Given the description of an element on the screen output the (x, y) to click on. 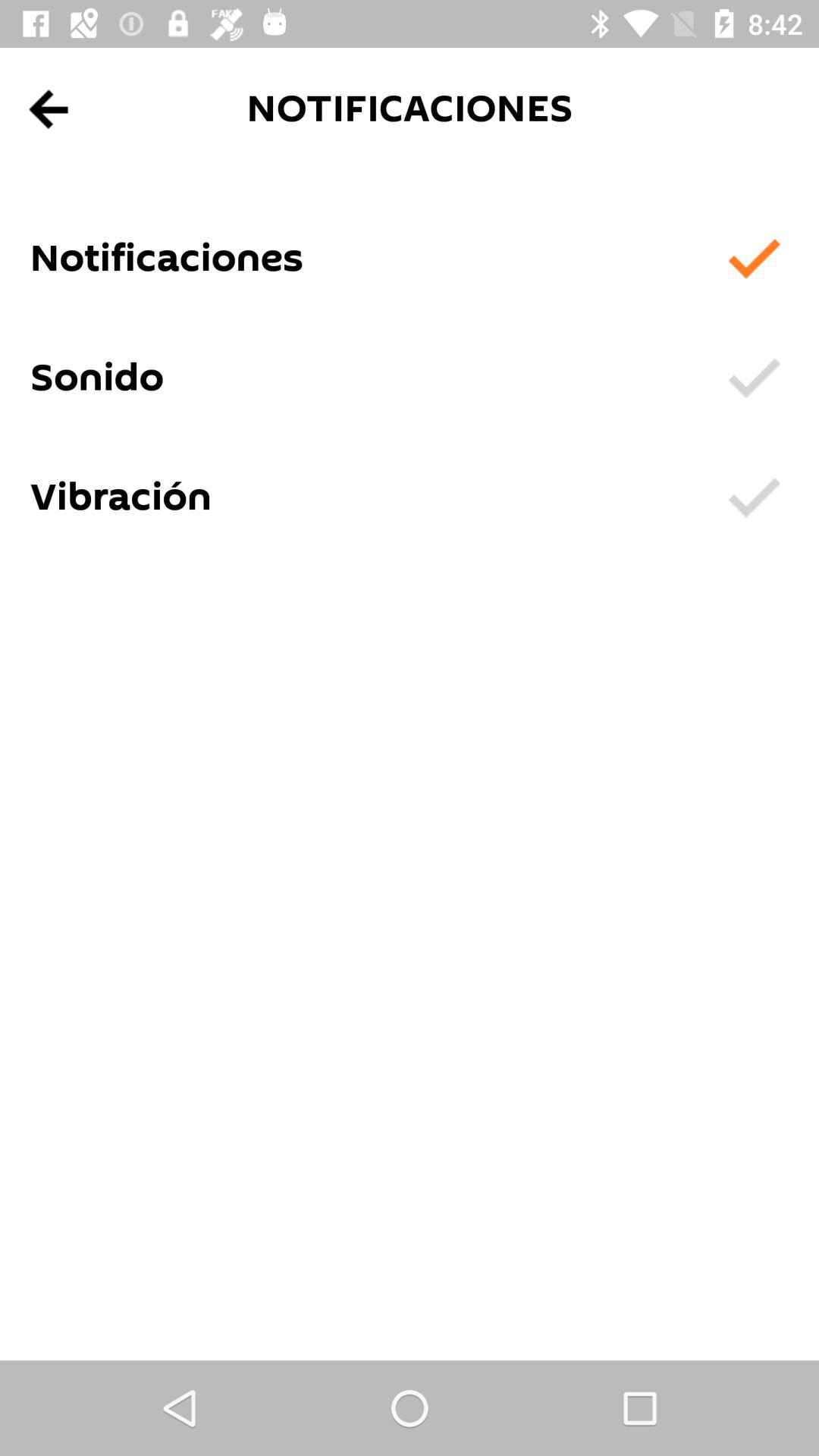
go back (49, 109)
